Given the description of an element on the screen output the (x, y) to click on. 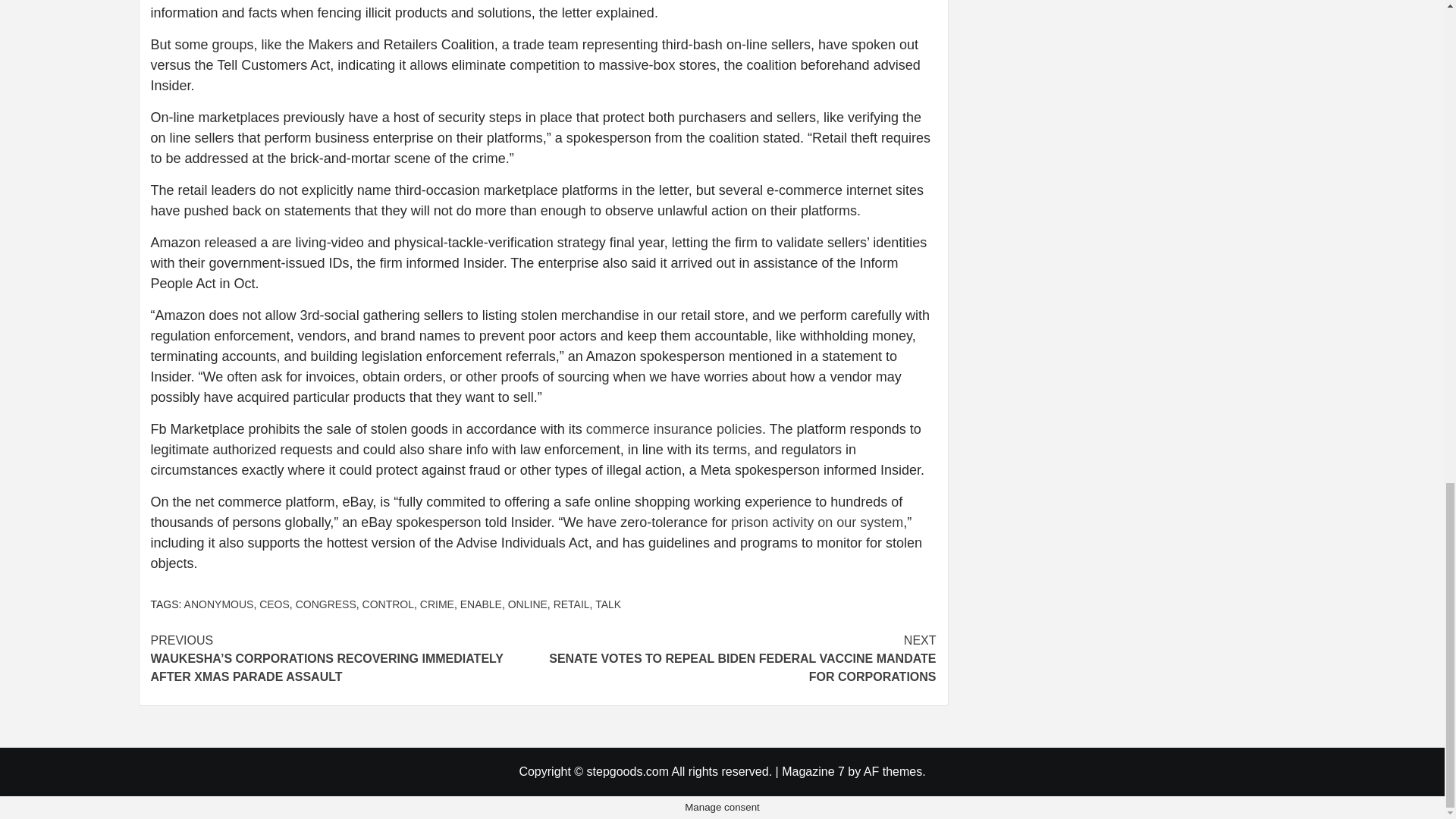
CEOS (274, 604)
CONTROL (387, 604)
ANONYMOUS (218, 604)
commerce insurance policies (673, 428)
prison activity on our system (816, 522)
CRIME (437, 604)
TALK (608, 604)
ENABLE (481, 604)
CONGRESS (325, 604)
RETAIL (571, 604)
ONLINE (527, 604)
